Given the description of an element on the screen output the (x, y) to click on. 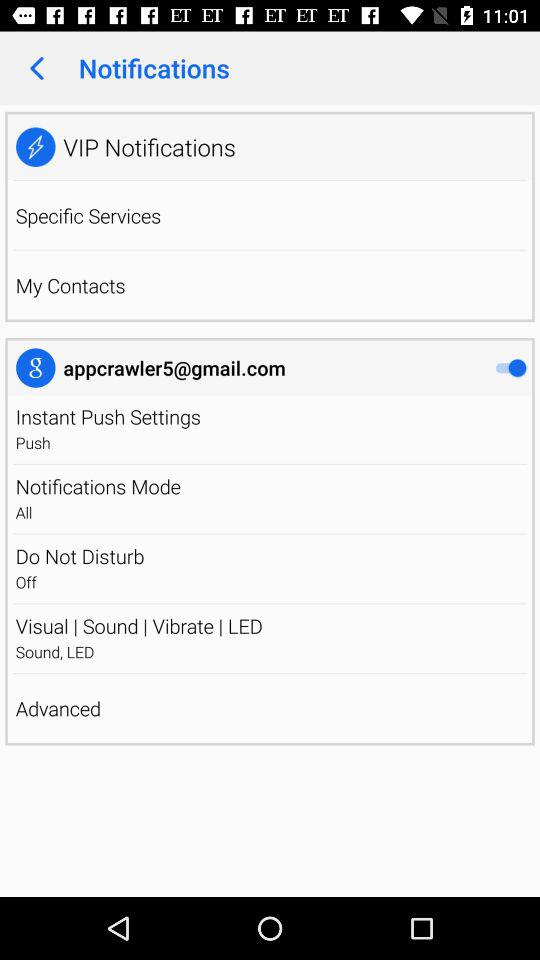
turn off the app next to the notifications item (36, 68)
